Given the description of an element on the screen output the (x, y) to click on. 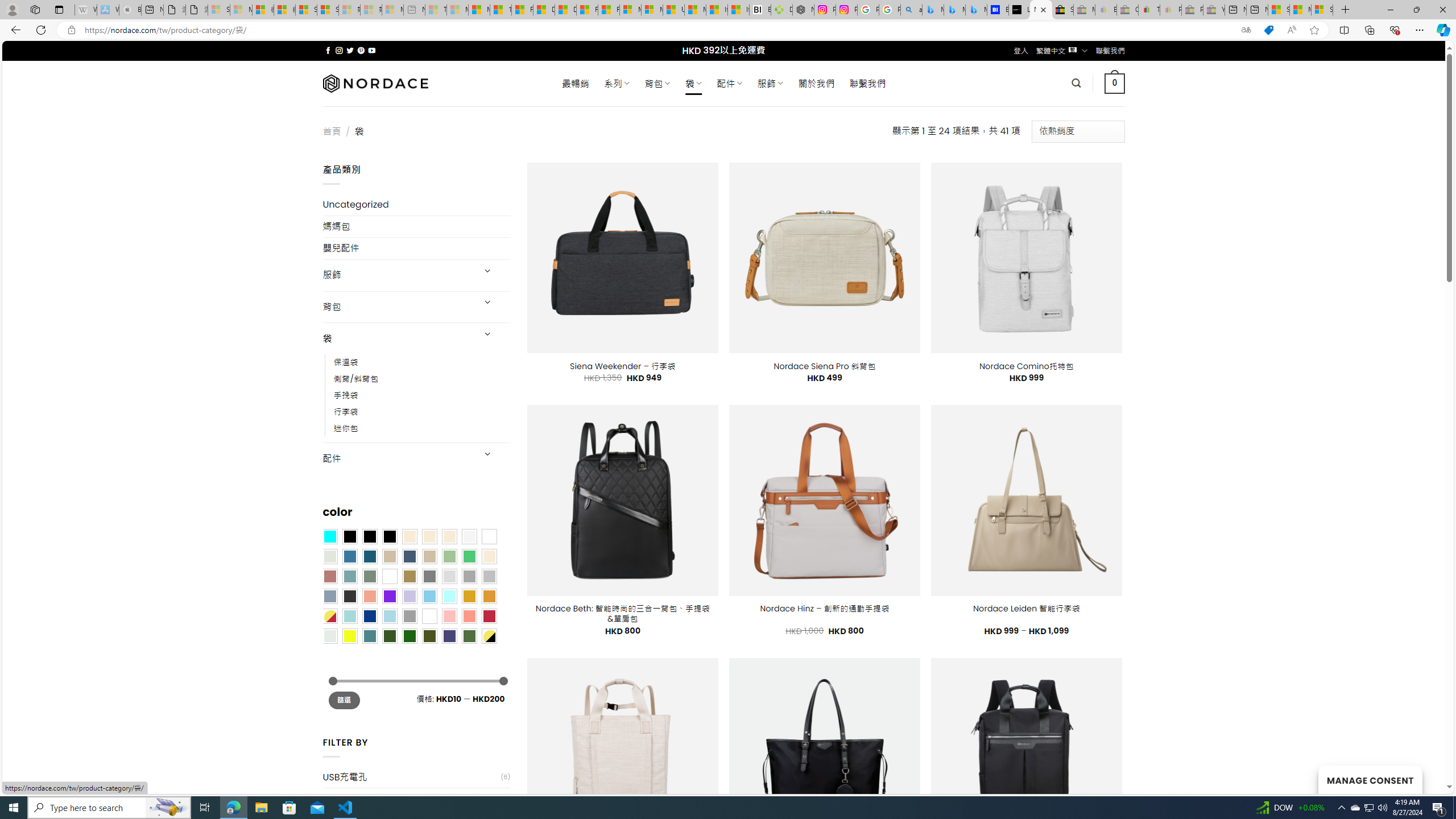
Marine life - MSN - Sleeping (457, 9)
Shanghai, China hourly forecast | Microsoft Weather (1278, 9)
Descarga Driver Updater (781, 9)
Sign in to your Microsoft account (1322, 9)
